Given the description of an element on the screen output the (x, y) to click on. 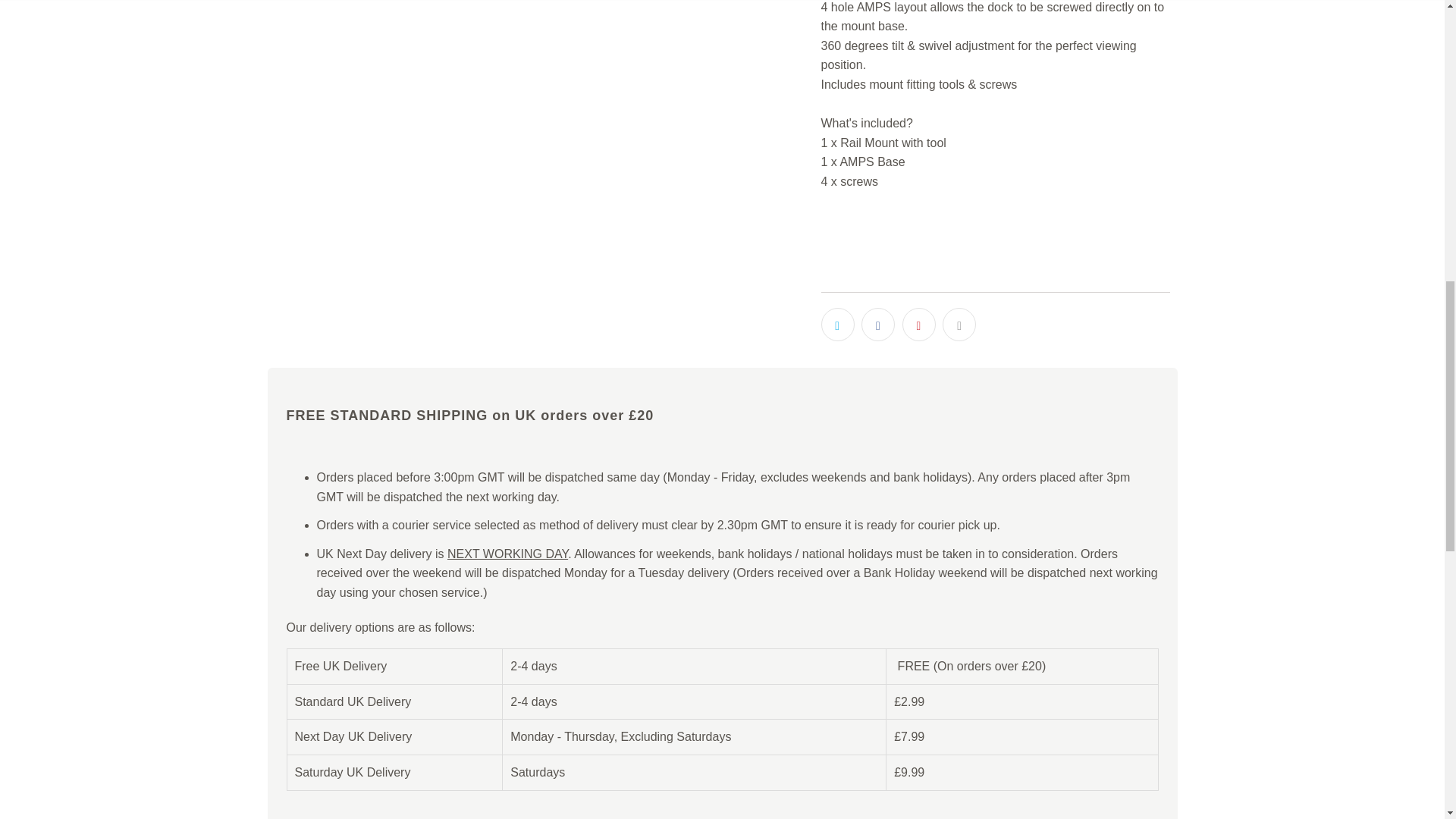
Share this on Pinterest (919, 324)
Email this to a friend (958, 324)
Share this on Twitter (837, 324)
Share this on Facebook (878, 324)
